Given the description of an element on the screen output the (x, y) to click on. 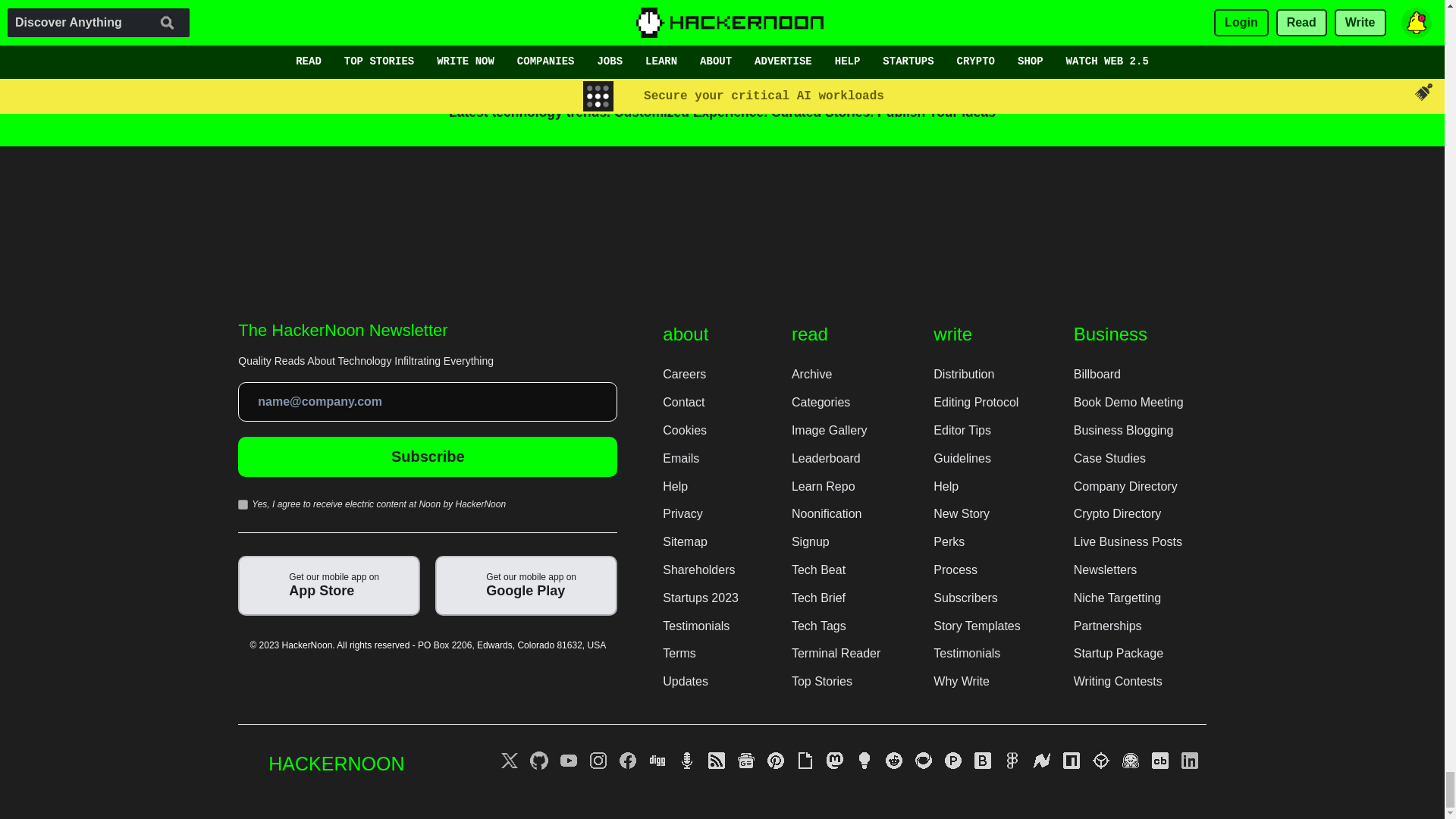
on (242, 504)
